Given the description of an element on the screen output the (x, y) to click on. 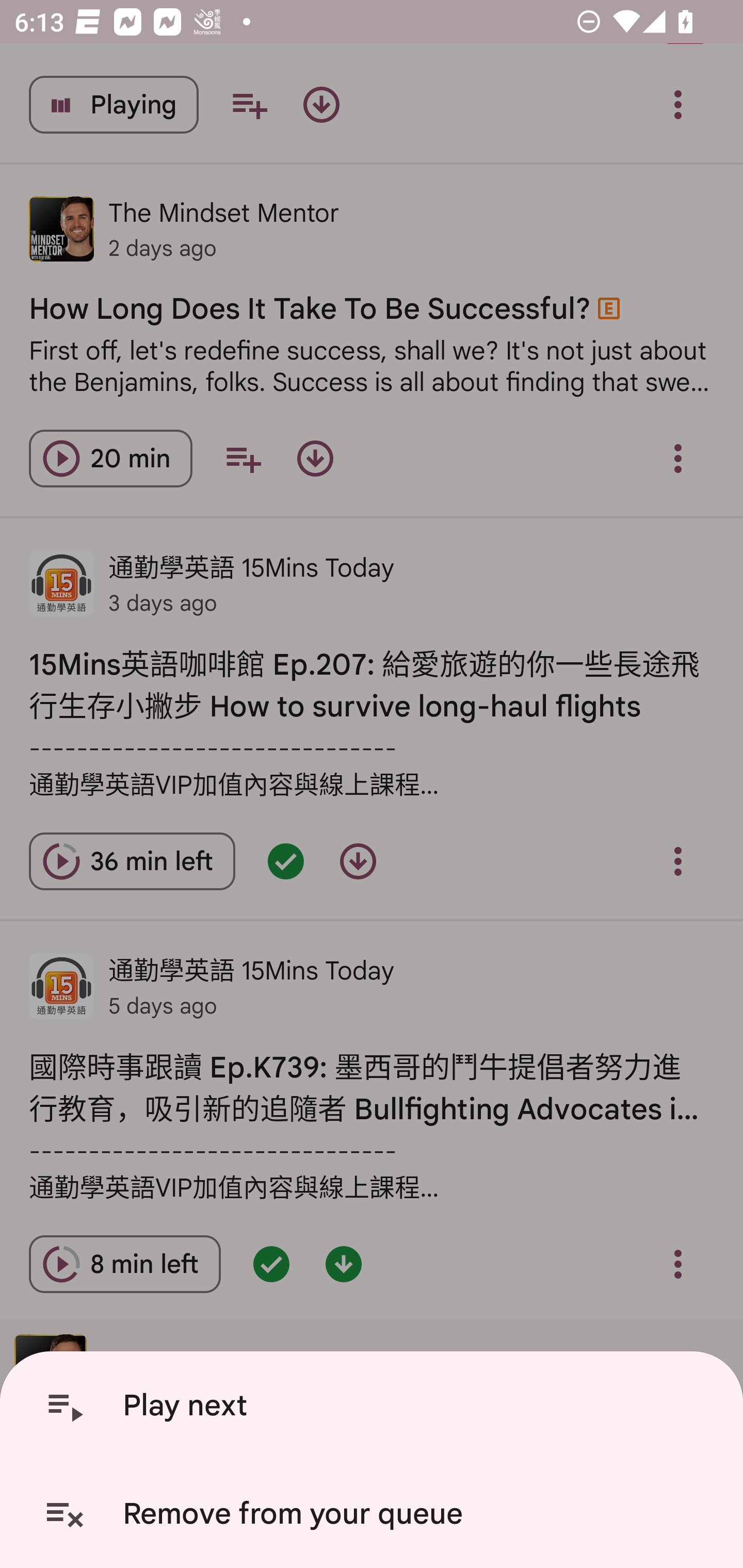
Play next (375, 1405)
Remove from your queue (375, 1513)
